Given the description of an element on the screen output the (x, y) to click on. 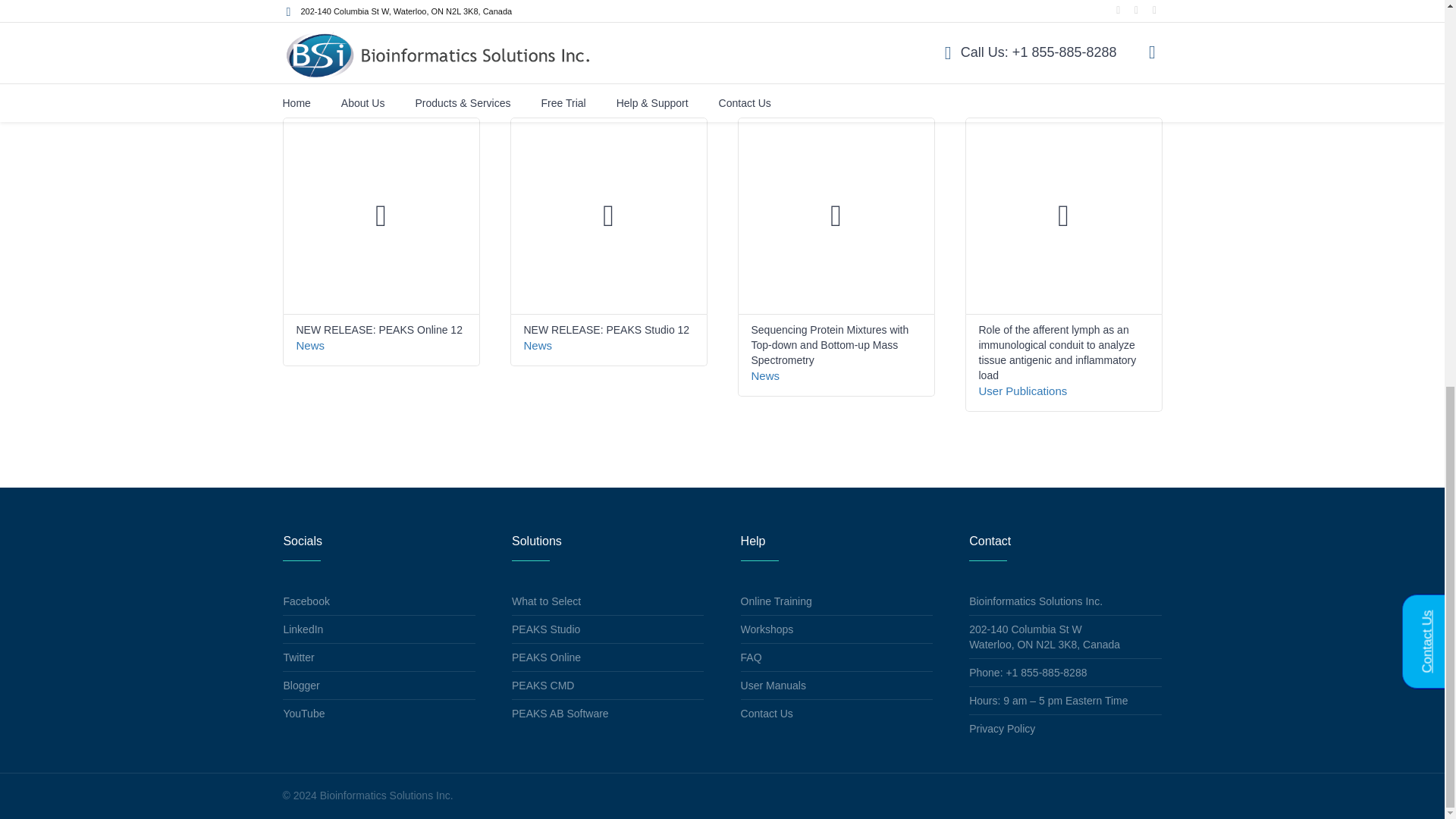
NEW RELEASE: PEAKS Online 12 (378, 329)
NEW RELEASE: PEAKS Studio 12 (605, 329)
